Given the description of an element on the screen output the (x, y) to click on. 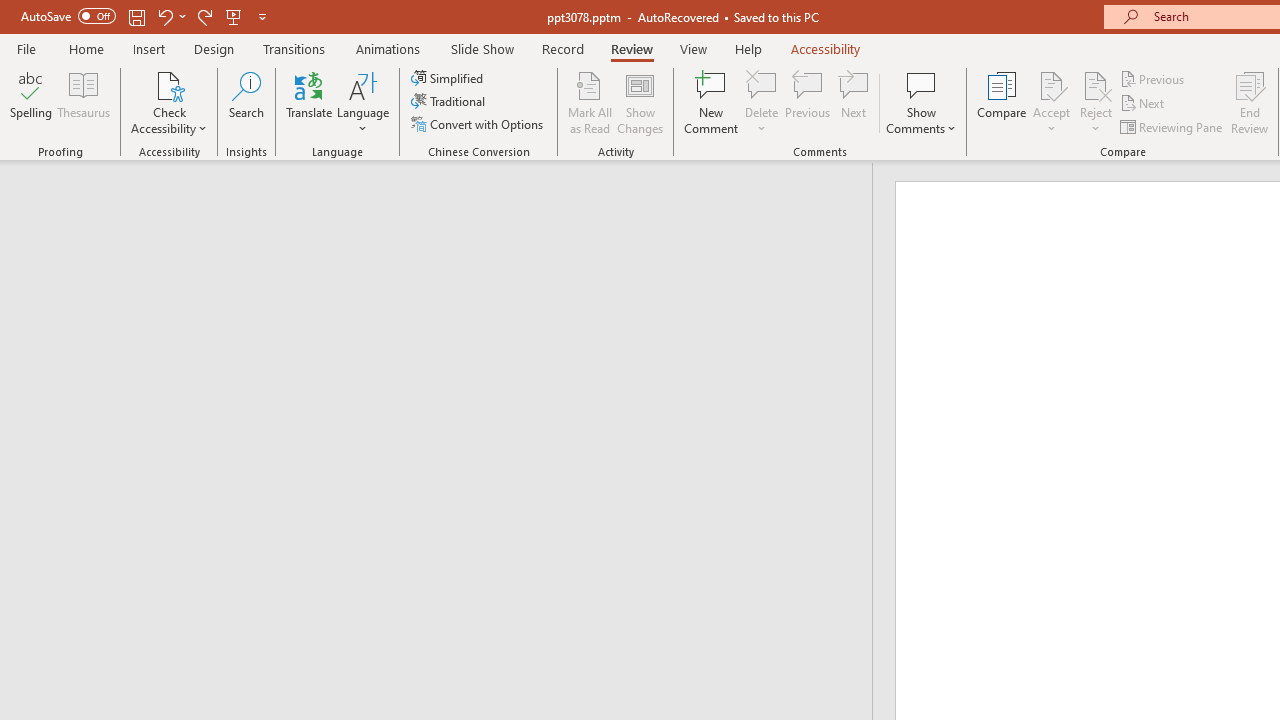
Show Changes (639, 102)
Simplified (449, 78)
Accept Change (1051, 84)
Language (363, 102)
Translate (309, 102)
Reject Change (1096, 84)
